Given the description of an element on the screen output the (x, y) to click on. 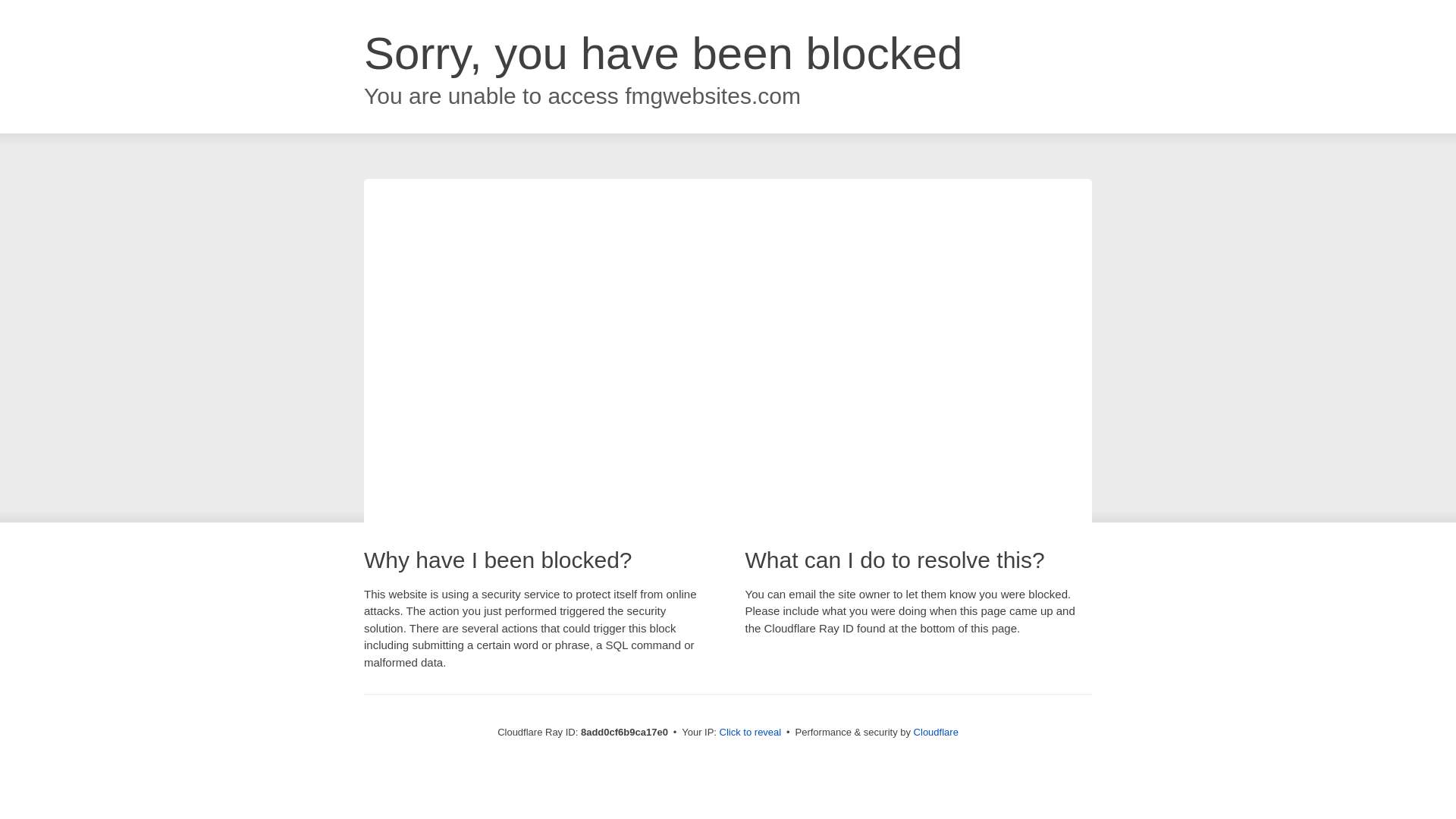
Cloudflare (936, 731)
Click to reveal (750, 732)
